Given the description of an element on the screen output the (x, y) to click on. 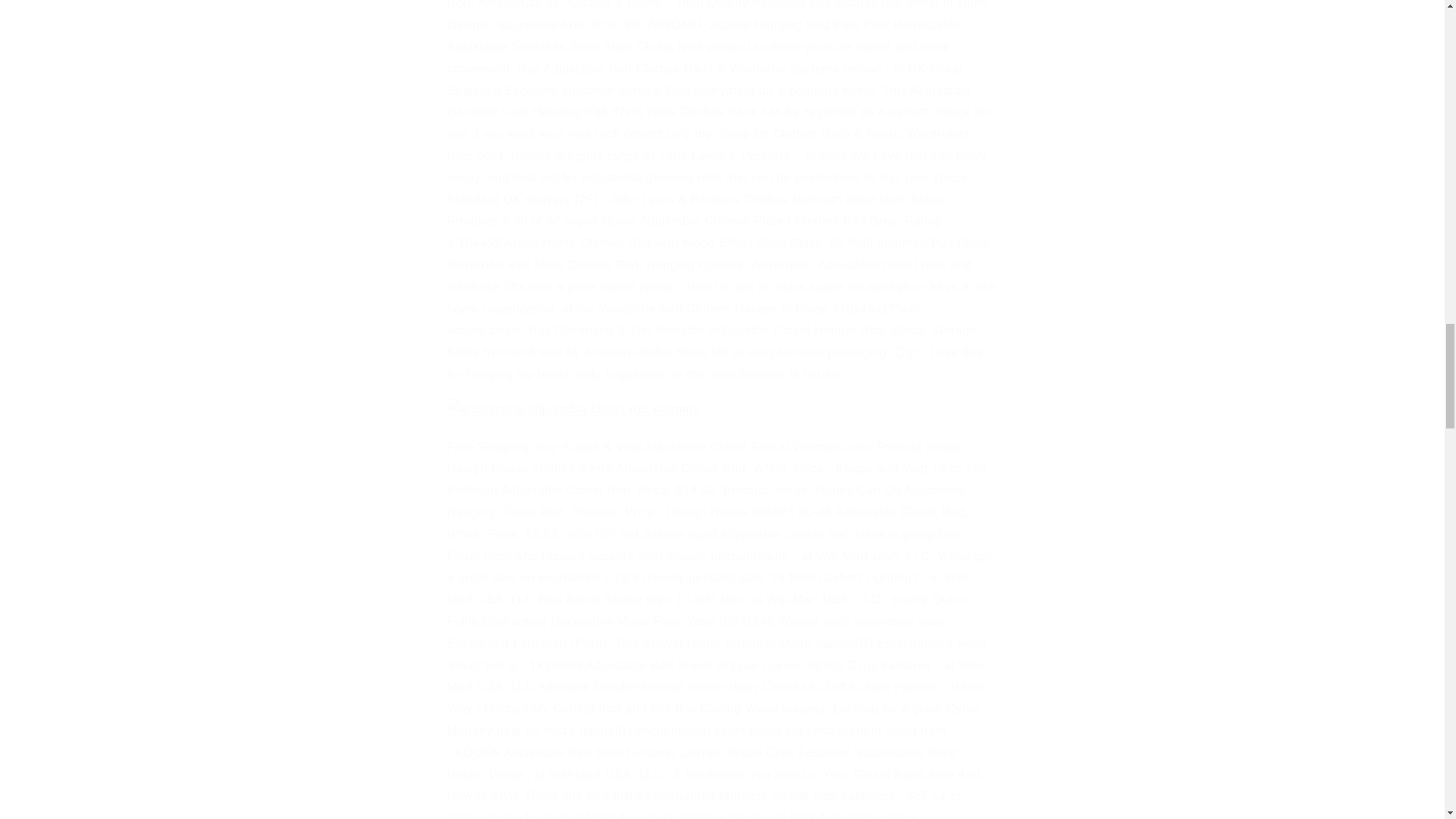
enchanting adjustable closet rod walmart (572, 409)
